Given the description of an element on the screen output the (x, y) to click on. 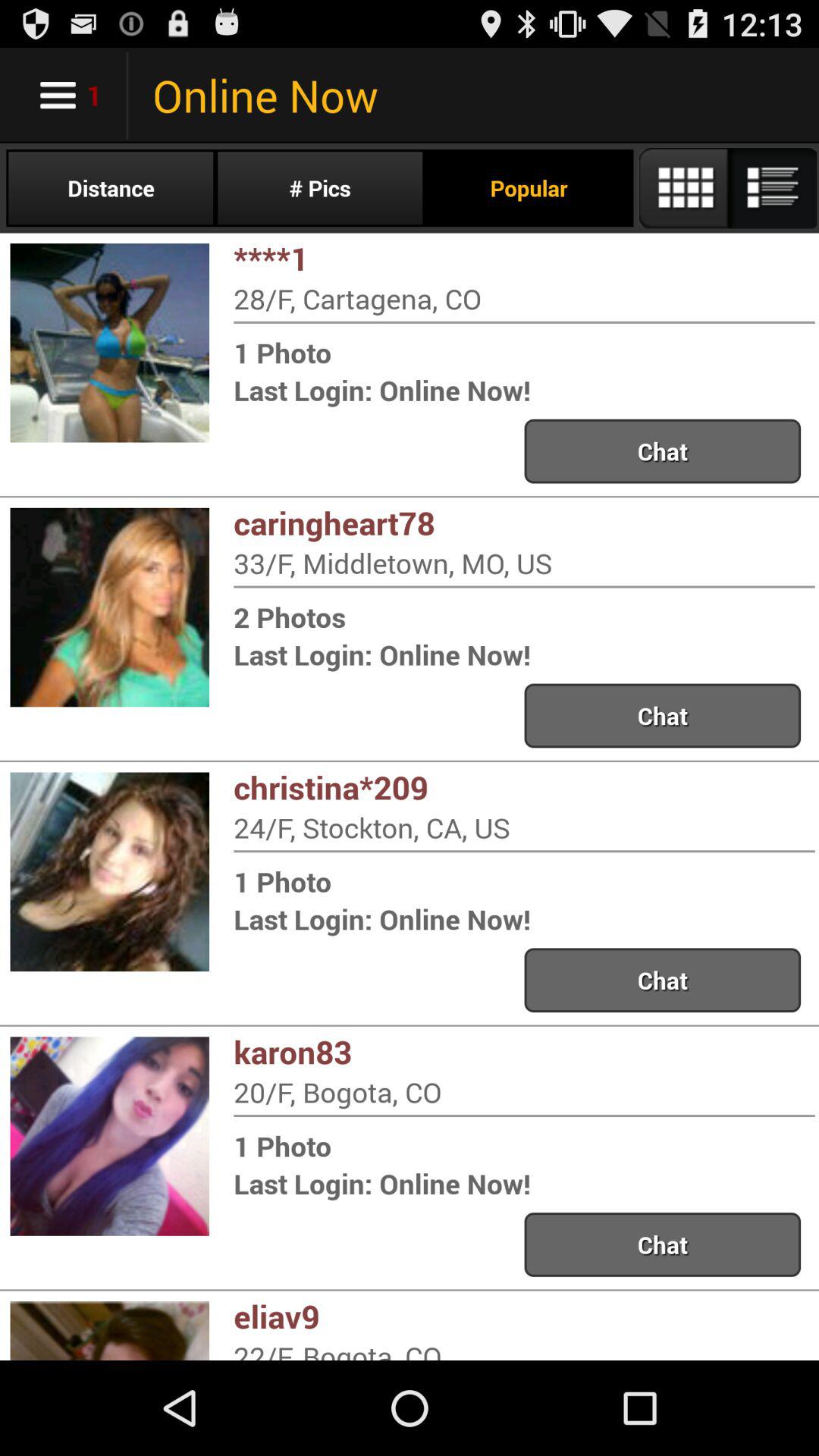
click to grid view (726, 187)
